Given the description of an element on the screen output the (x, y) to click on. 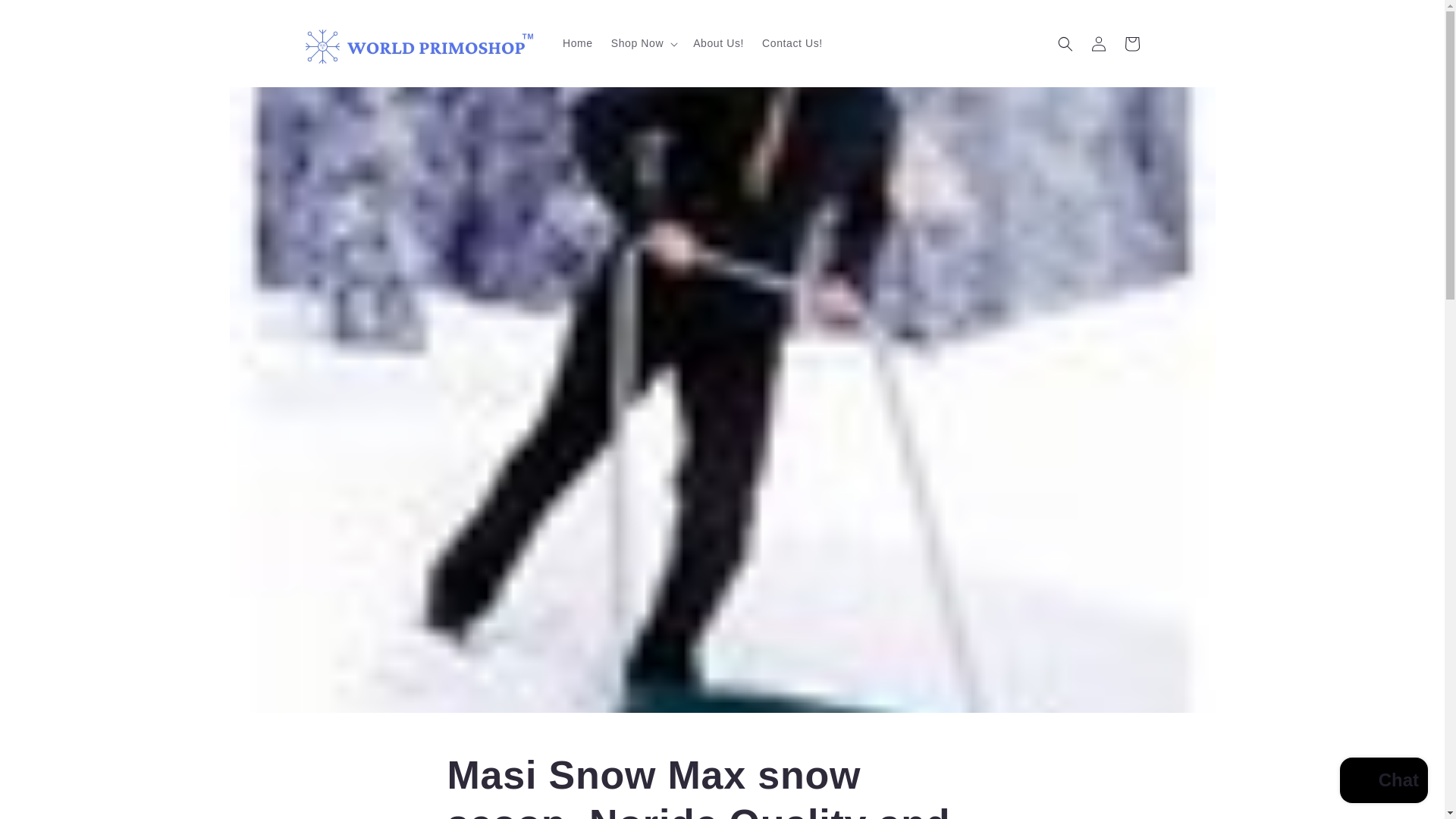
Cart (1131, 43)
Shopify online store chat (1383, 781)
About Us! (718, 42)
Home (577, 42)
Skip to content (45, 17)
Contact Us! (791, 42)
Log in (1098, 43)
